Given the description of an element on the screen output the (x, y) to click on. 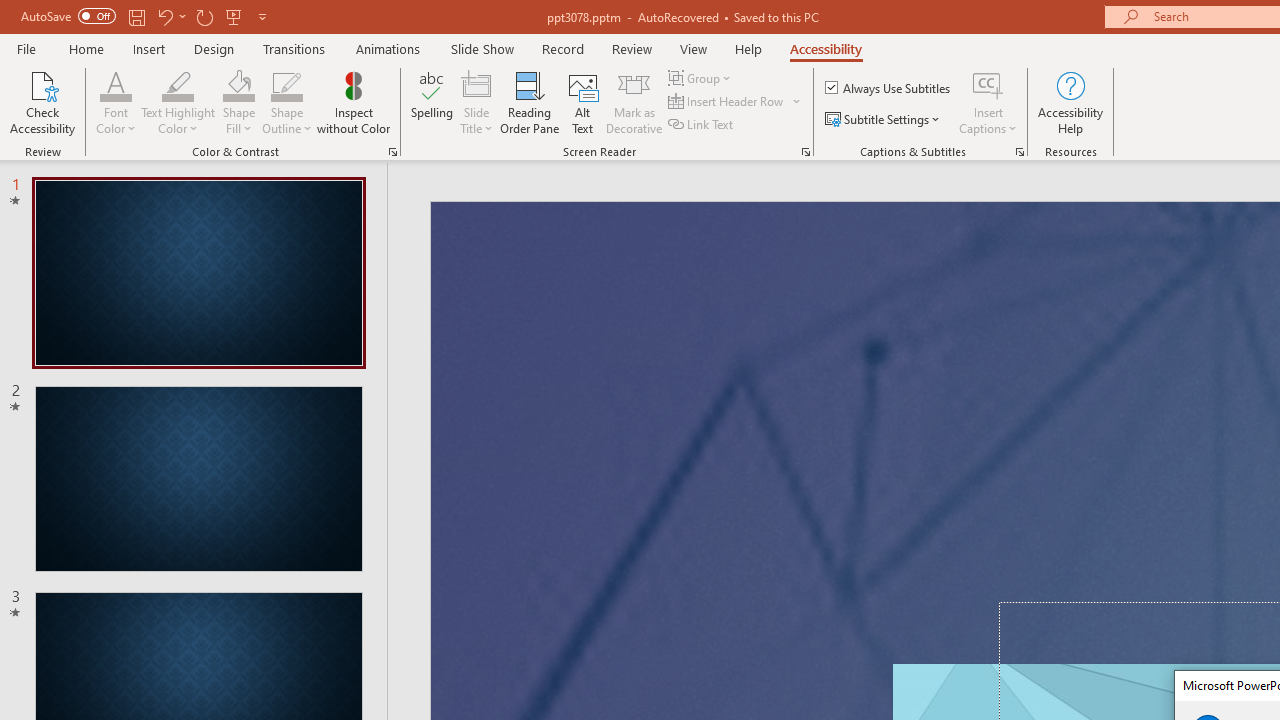
Color & Contrast (392, 151)
Insert Captions (988, 102)
Inspect without Color (353, 102)
Slide Title (476, 84)
